Given the description of an element on the screen output the (x, y) to click on. 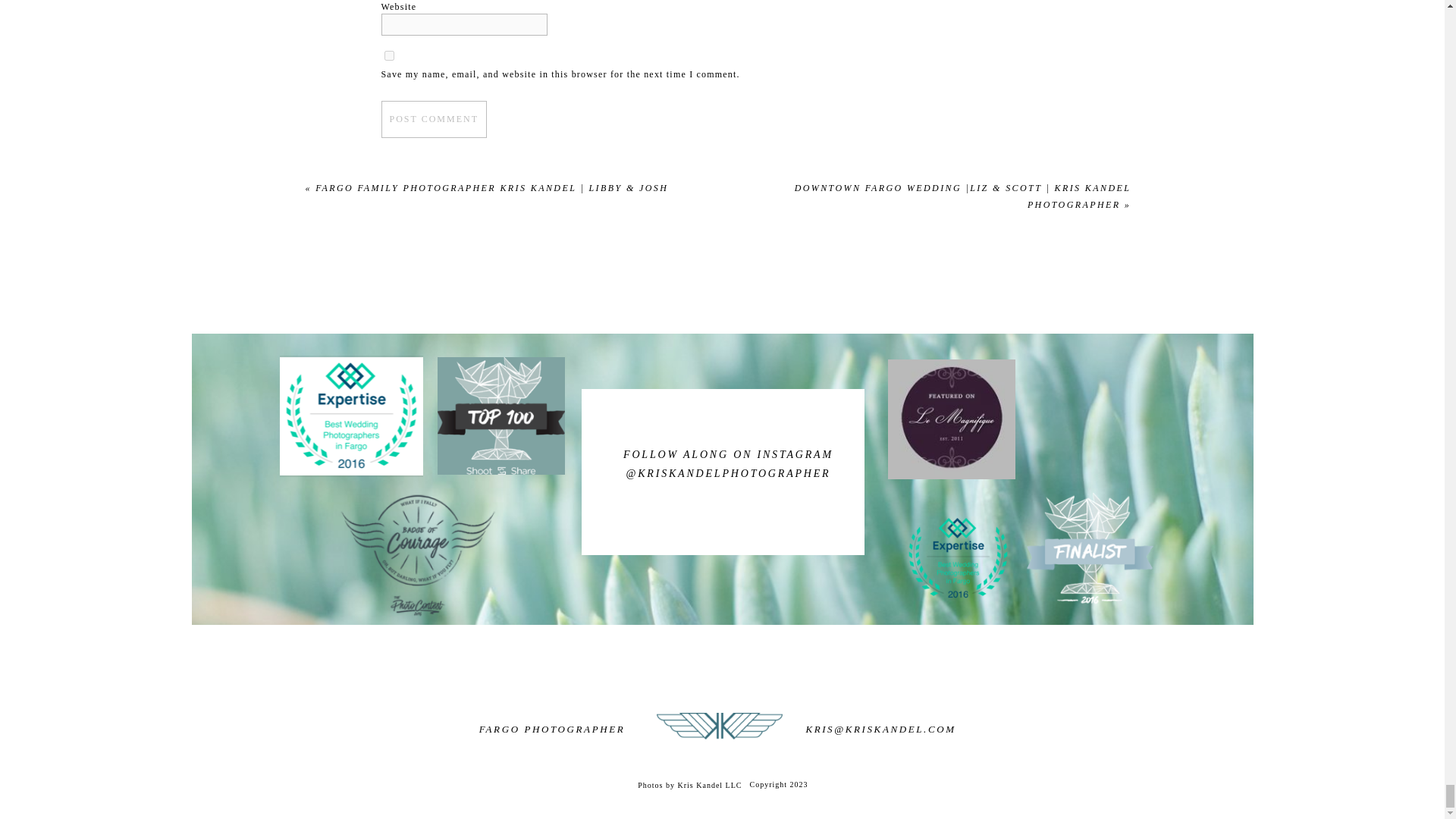
Photos by Kris Kandel LLC (655, 784)
Post Comment (433, 118)
Post Comment (433, 118)
yes (388, 55)
Copyright 2023 (812, 783)
